Given the description of an element on the screen output the (x, y) to click on. 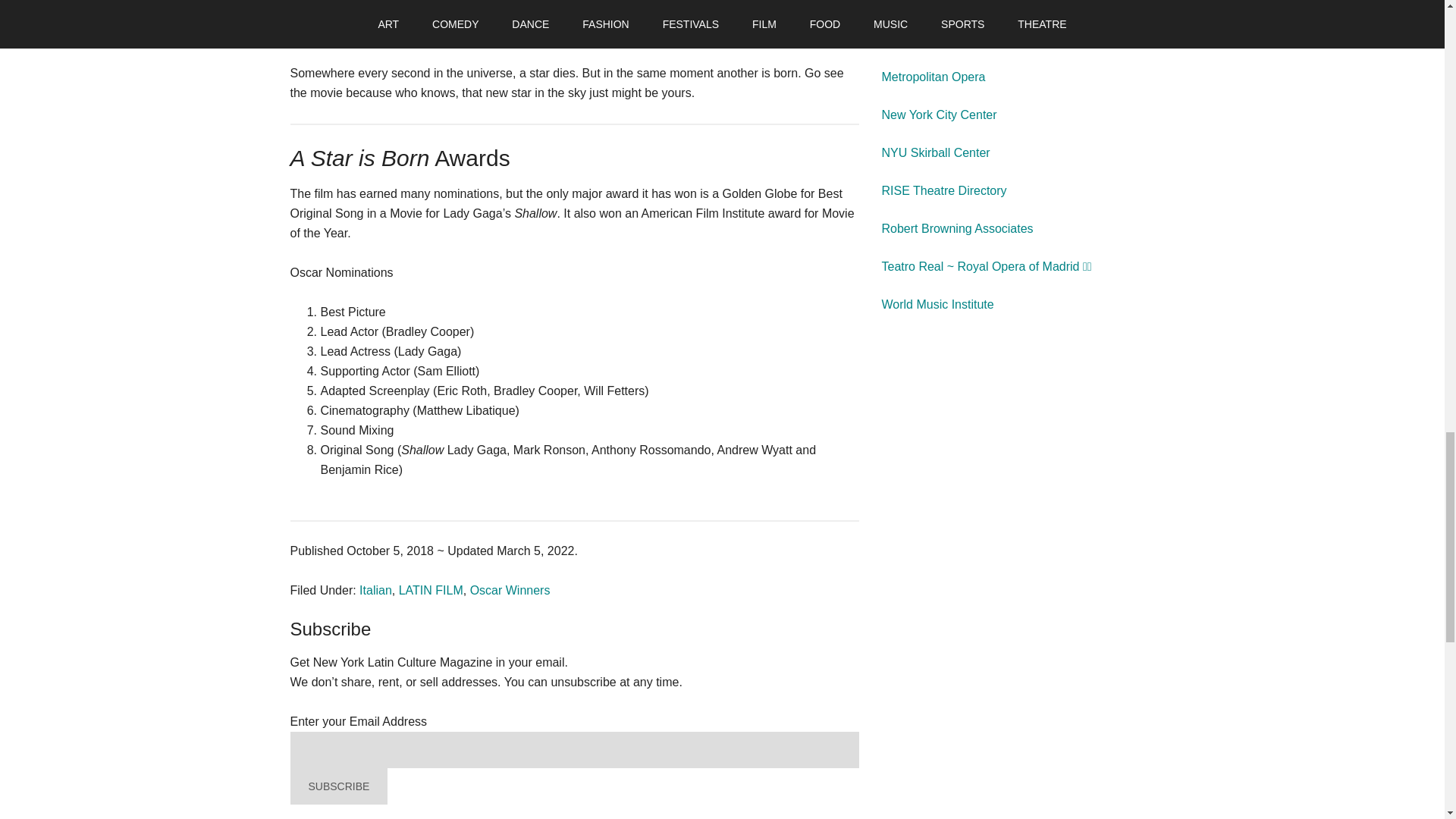
Subscribe (338, 786)
Italian (375, 590)
Oscar Winners (510, 590)
LATIN FILM (430, 590)
Subscribe (330, 629)
Subscribe (338, 786)
